Given the description of an element on the screen output the (x, y) to click on. 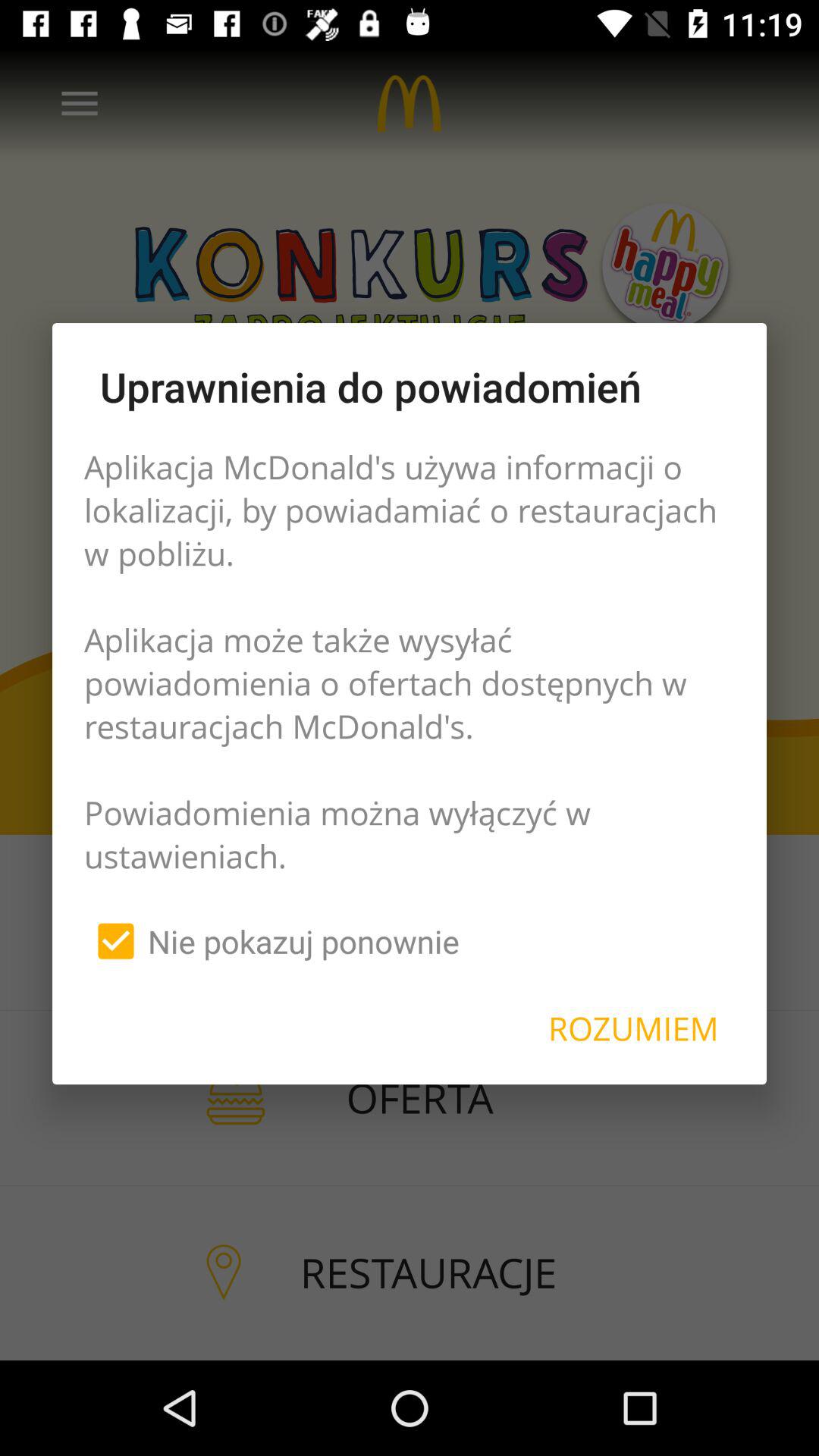
launch item next to the nie pokazuj ponownie item (633, 1028)
